Given the description of an element on the screen output the (x, y) to click on. 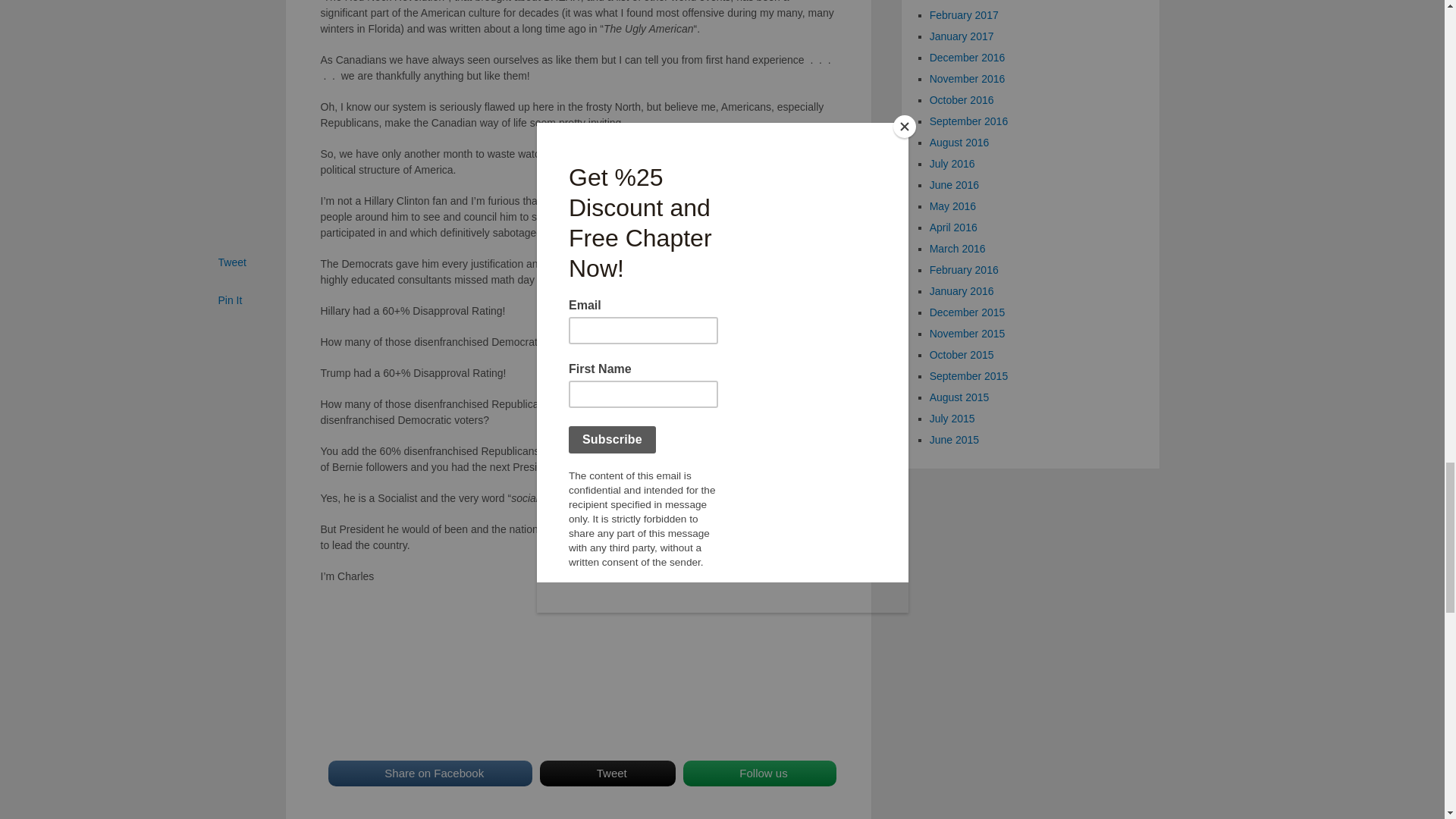
Tweet (607, 773)
Follow us (758, 773)
Share on Facebook (429, 773)
